Given the description of an element on the screen output the (x, y) to click on. 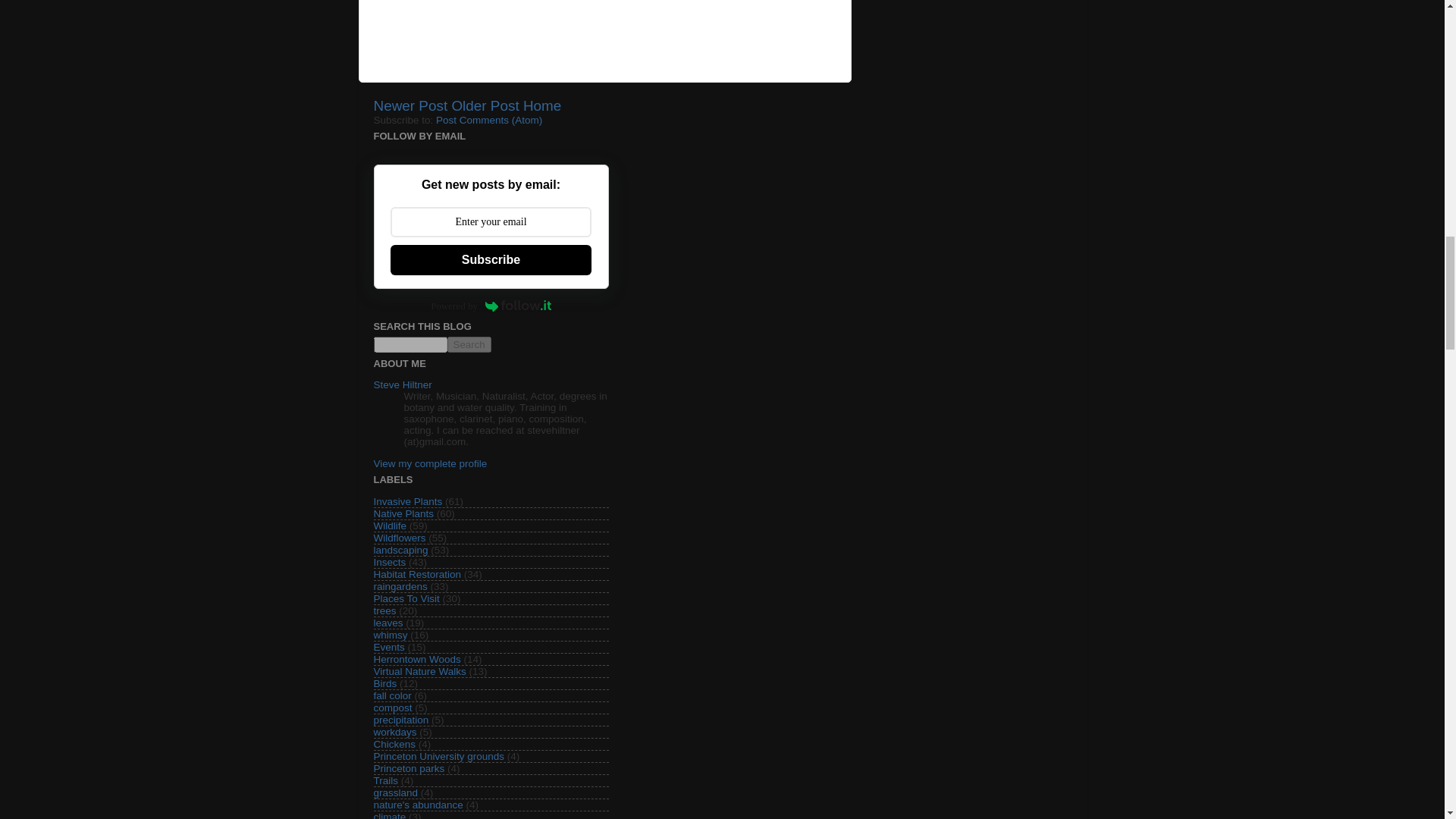
Invasive Plants (407, 501)
search (469, 344)
Powered by (490, 305)
Home (541, 105)
search (409, 344)
Search (469, 344)
Search (469, 344)
Subscribe (490, 259)
Search (469, 344)
Steve Hiltner (401, 384)
Newer Post (409, 105)
Newer Post (409, 105)
Older Post (484, 105)
View my complete profile (429, 463)
Older Post (484, 105)
